Given the description of an element on the screen output the (x, y) to click on. 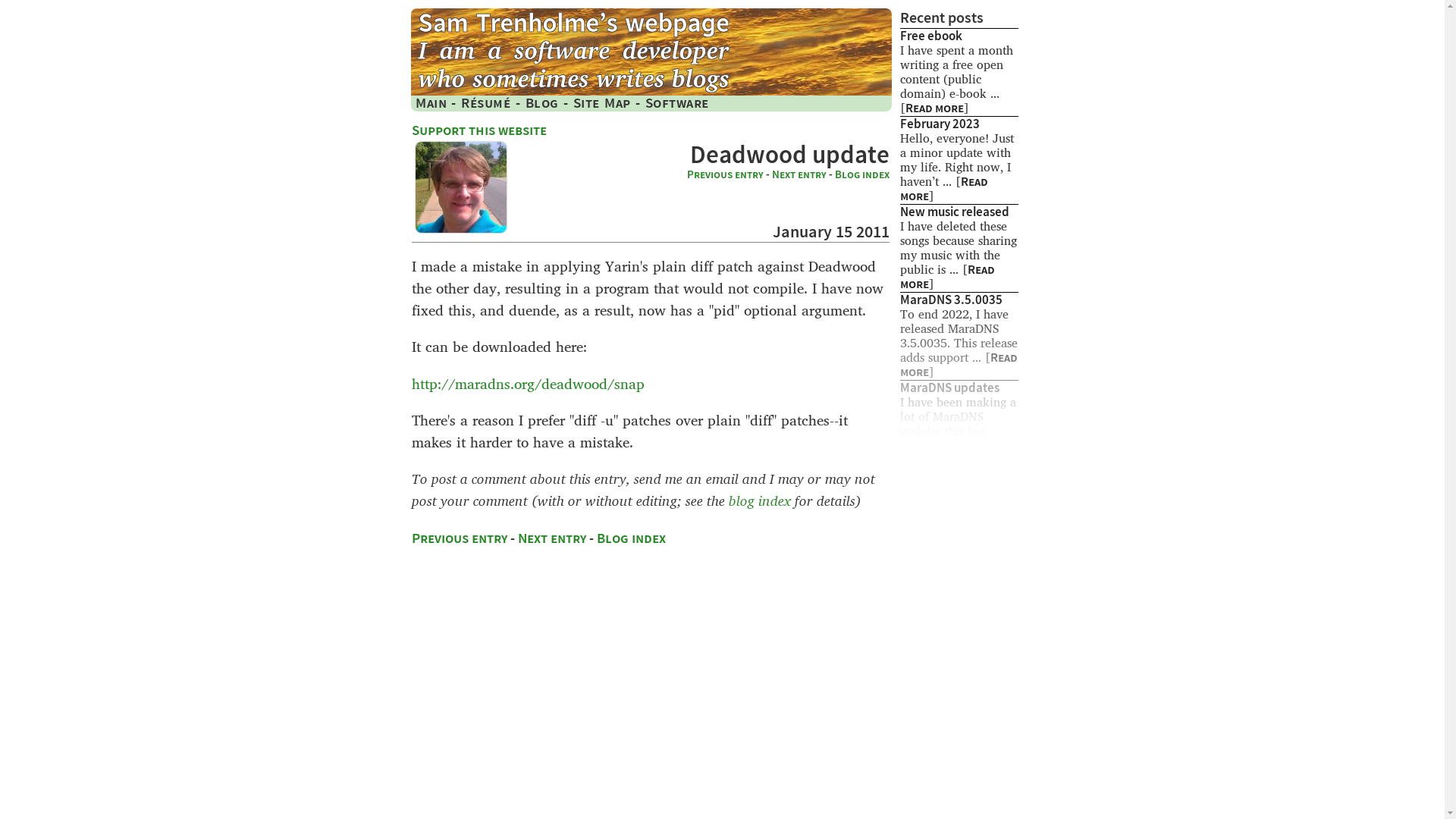
Software (677, 102)
Blog index (861, 173)
Main (430, 102)
Previous entry (459, 537)
Site Map (601, 102)
Previous entry (724, 173)
blog index (759, 500)
Next entry (799, 173)
Blog index (630, 537)
Blog (540, 102)
